Given the description of an element on the screen output the (x, y) to click on. 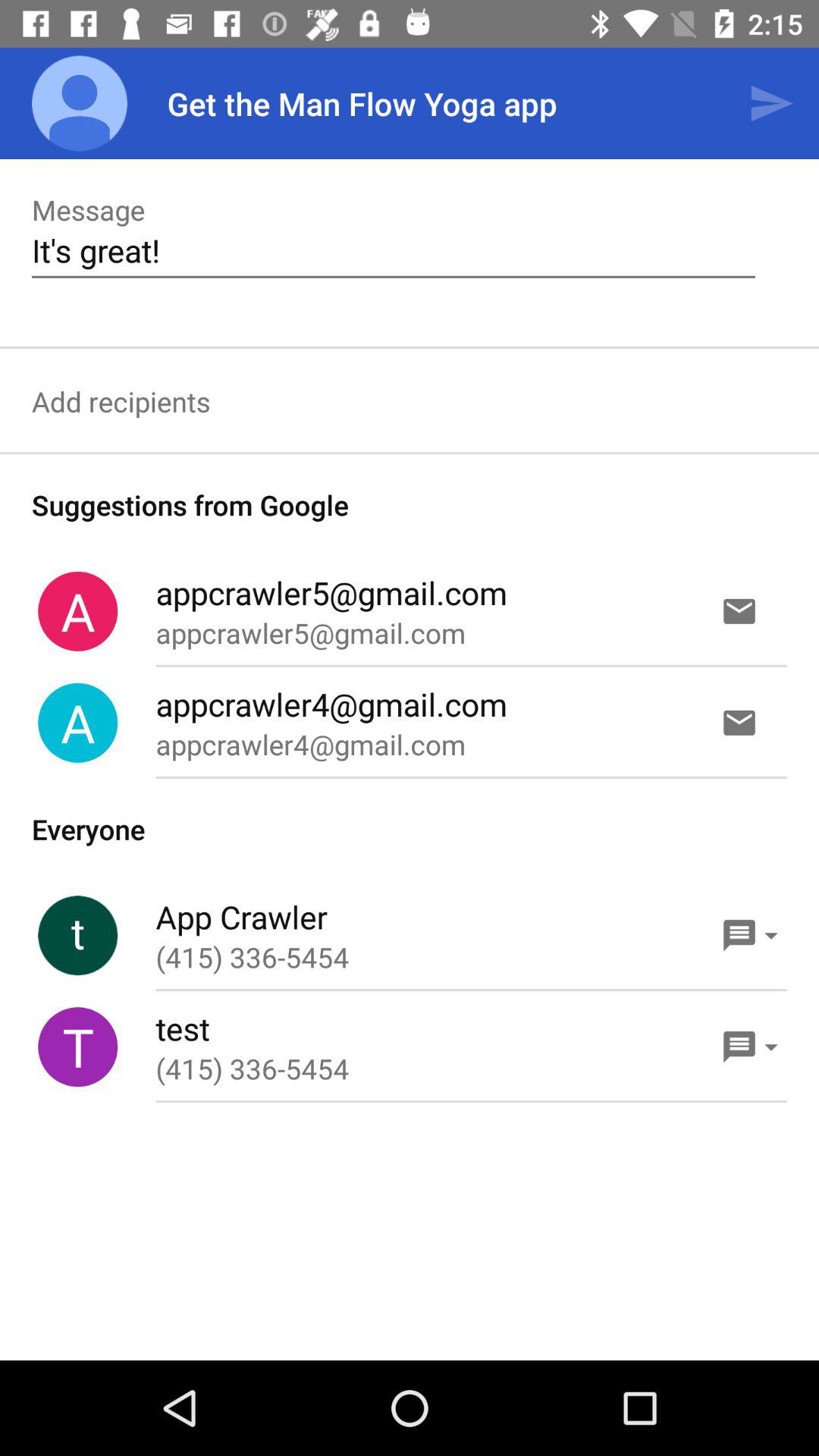
turn on the app next to get the man item (79, 103)
